Given the description of an element on the screen output the (x, y) to click on. 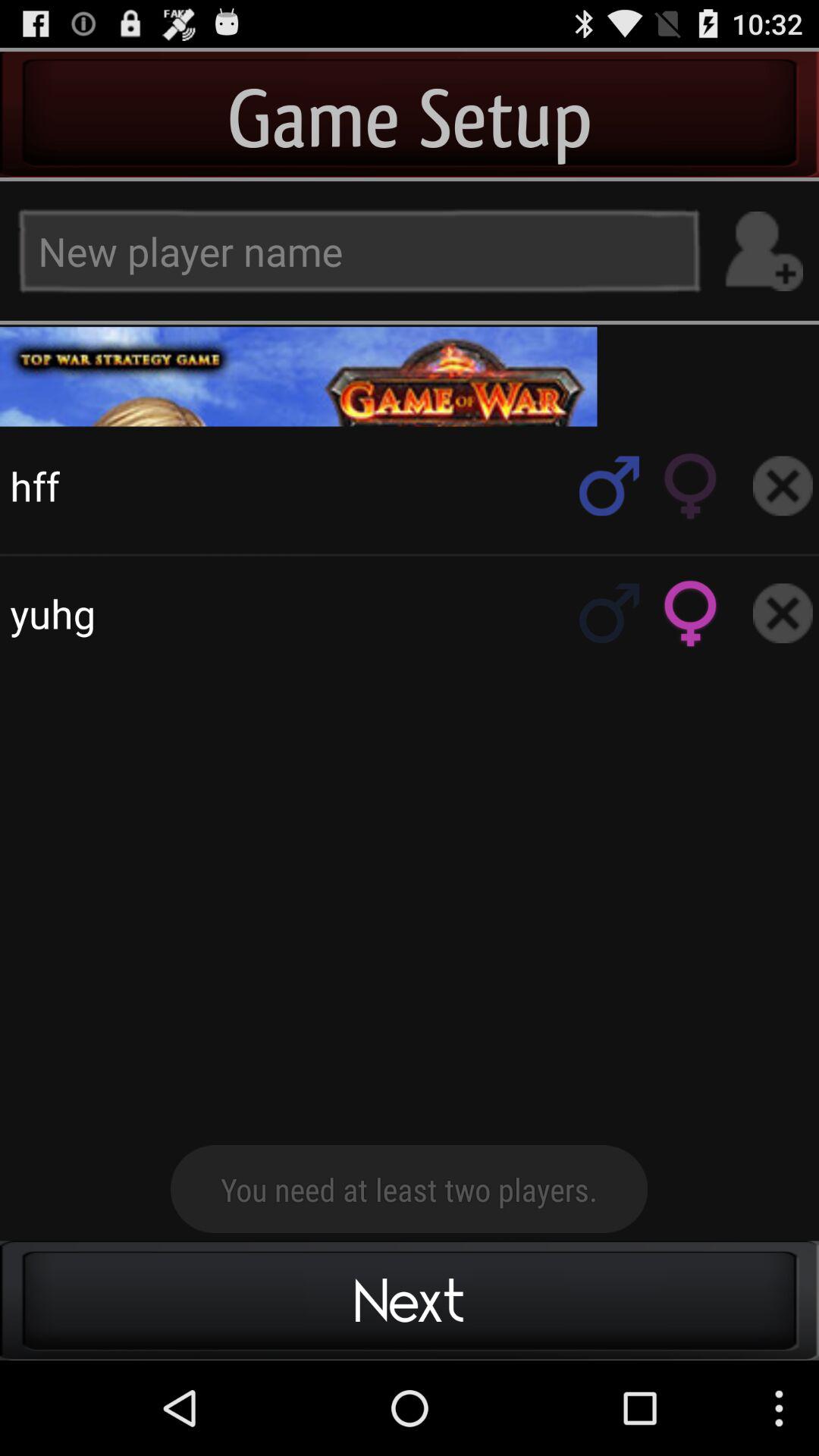
unselect an item (782, 613)
